Given the description of an element on the screen output the (x, y) to click on. 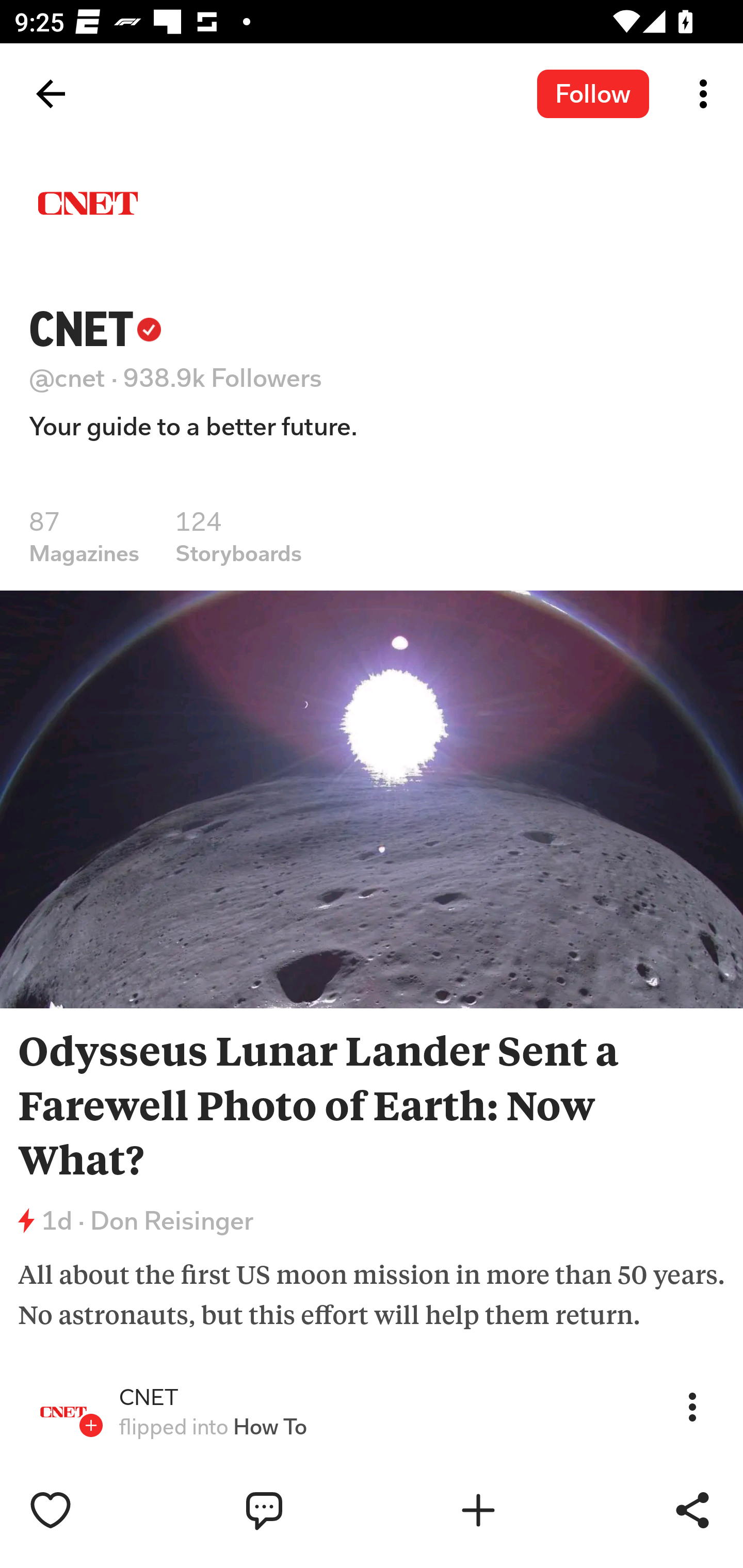
Back (50, 93)
More options (706, 93)
Follow (593, 92)
CNET (94, 328)
@cnet (66, 377)
938.9k Followers (222, 377)
87 Magazines (84, 535)
124 Storyboards (238, 535)
More (692, 1406)
CNET (148, 1397)
flipped into How To (212, 1426)
Like (93, 1509)
Write a comment… (307, 1509)
Flip into Magazine (521, 1509)
Share (692, 1509)
